Given the description of an element on the screen output the (x, y) to click on. 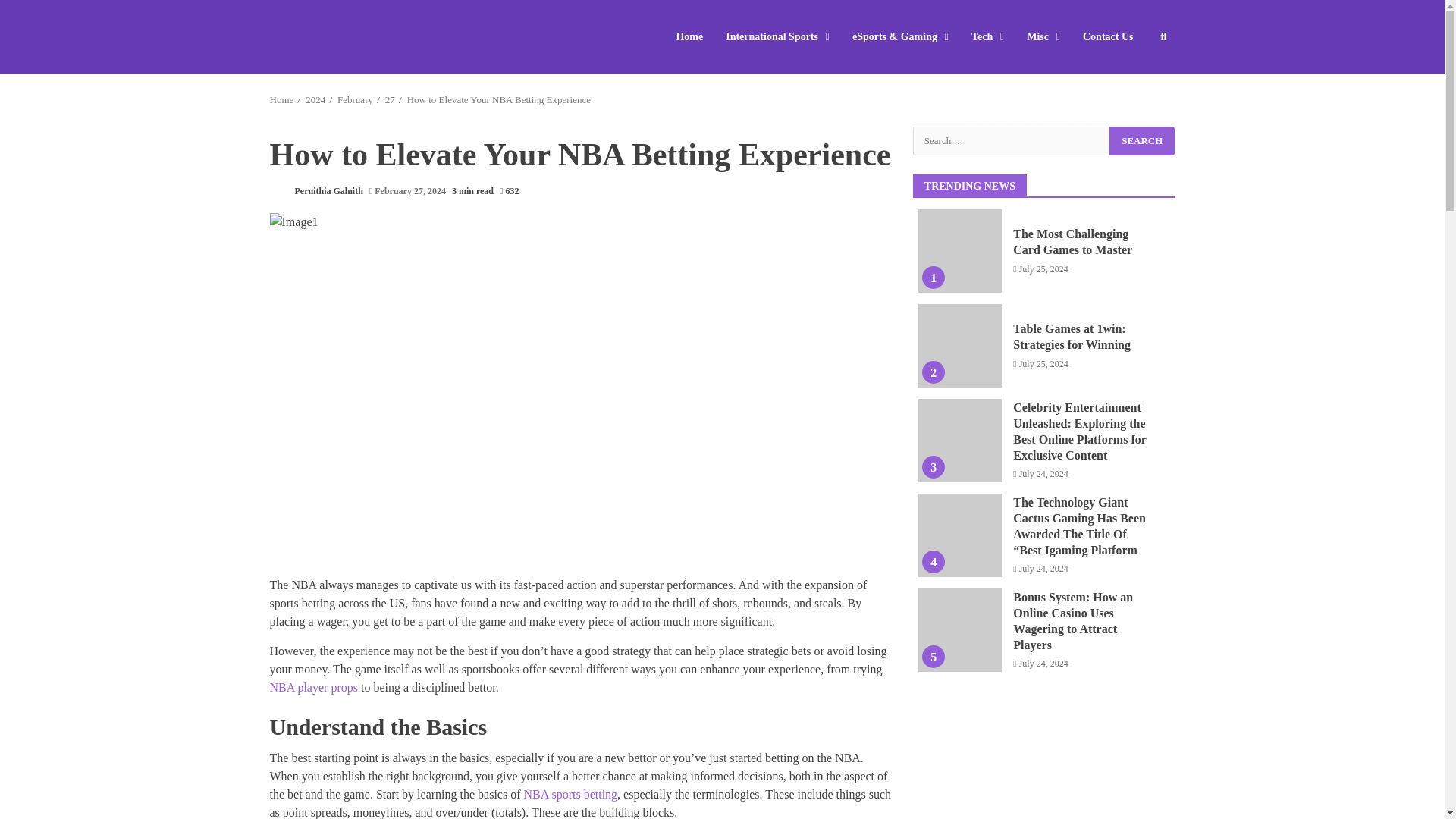
Search (1141, 140)
2024 (314, 99)
International Sports (777, 36)
Misc (1042, 36)
Search (1141, 140)
NBA sports betting (570, 793)
February (354, 99)
Tech (986, 36)
Contact Us (1102, 36)
632 (508, 191)
NBA player props (313, 686)
How to Elevate Your NBA Betting Experience (499, 99)
Search (1135, 82)
Pernithia Galnith (315, 191)
Home (694, 36)
